Given the description of an element on the screen output the (x, y) to click on. 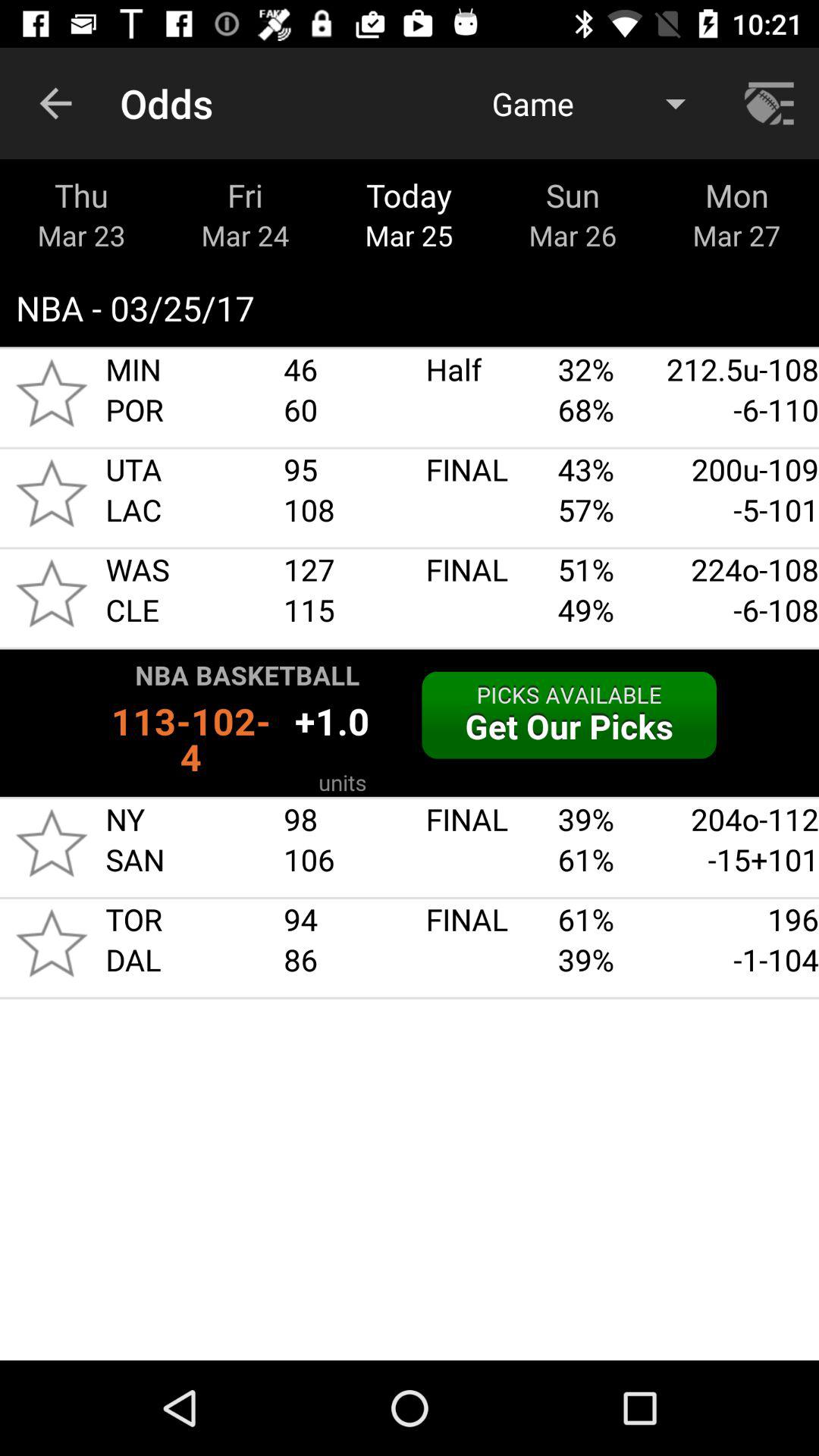
show suggestions for picks (409, 722)
